Given the description of an element on the screen output the (x, y) to click on. 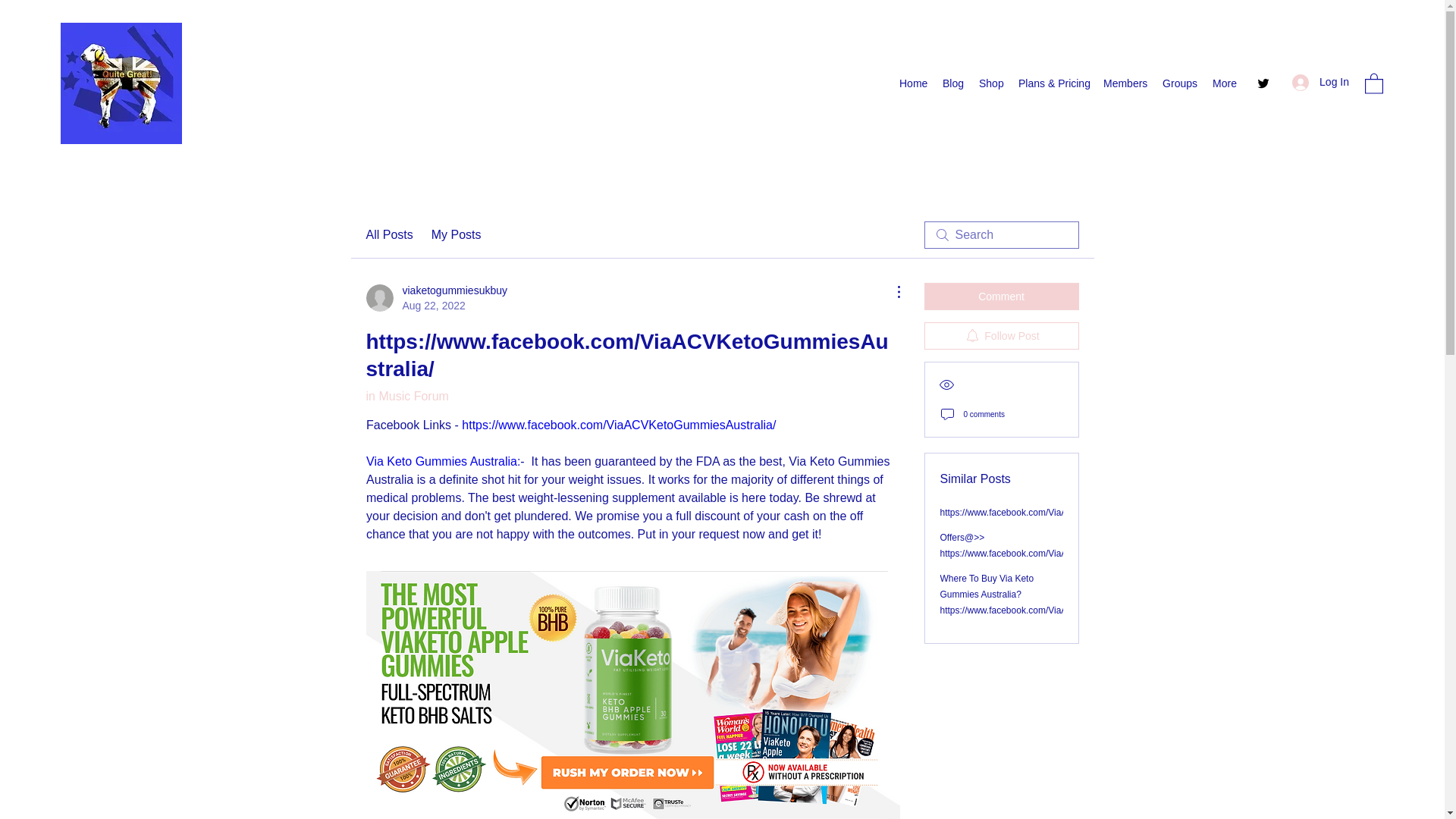
in Music Forum (435, 297)
All Posts (406, 395)
Via Keto Gummies Australia (388, 235)
Log In (440, 461)
My Posts (1320, 81)
Blog (455, 235)
Home (952, 83)
Shop (912, 83)
Groups (990, 83)
Members (1179, 83)
